Given the description of an element on the screen output the (x, y) to click on. 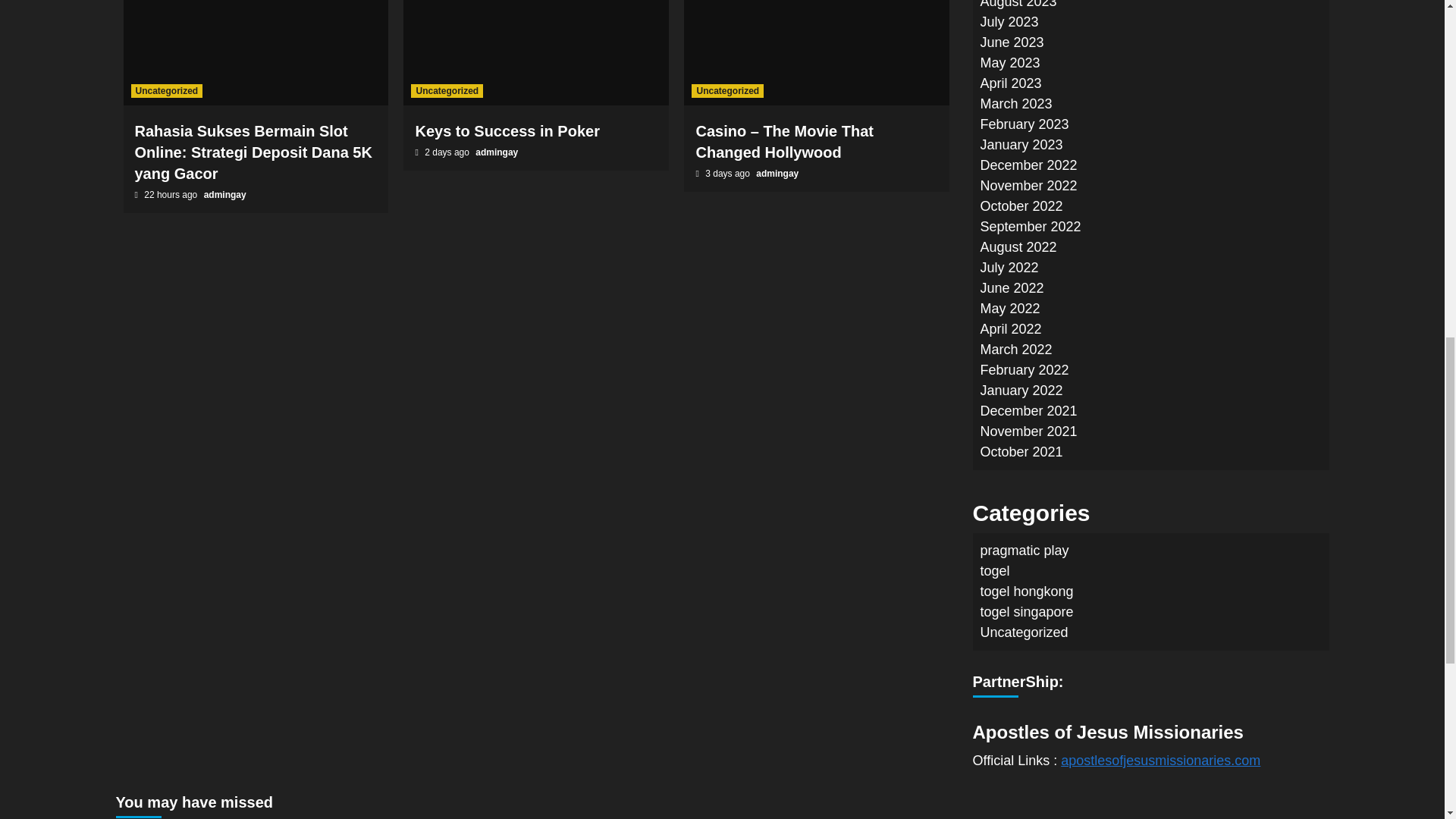
Keys to Success in Poker (506, 130)
Uncategorized (166, 90)
Uncategorized (446, 90)
Uncategorized (726, 90)
admingay (497, 152)
admingay (776, 173)
admingay (224, 194)
